Given the description of an element on the screen output the (x, y) to click on. 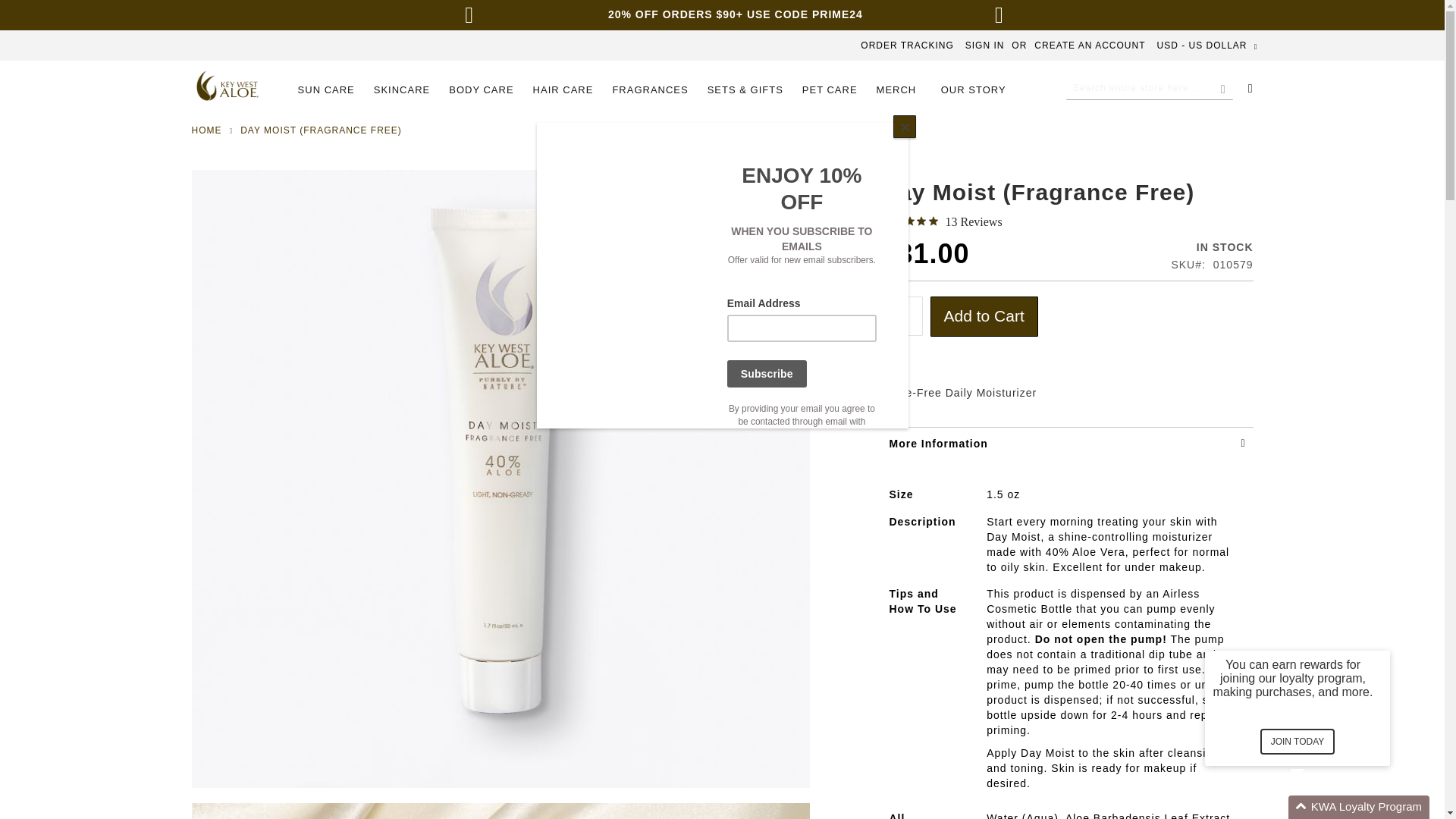
CREATE AN ACCOUNT (1088, 45)
Key West Aloe (226, 85)
Qty (900, 315)
ORDER TRACKING (906, 45)
SUN CARE (331, 90)
Add to Cart (983, 316)
SKINCARE (401, 90)
SIGN IN (984, 45)
Go to Home Page (205, 130)
BODY CARE (480, 90)
Search (1223, 88)
HAIR CARE (562, 90)
Availability (1211, 247)
